Given the description of an element on the screen output the (x, y) to click on. 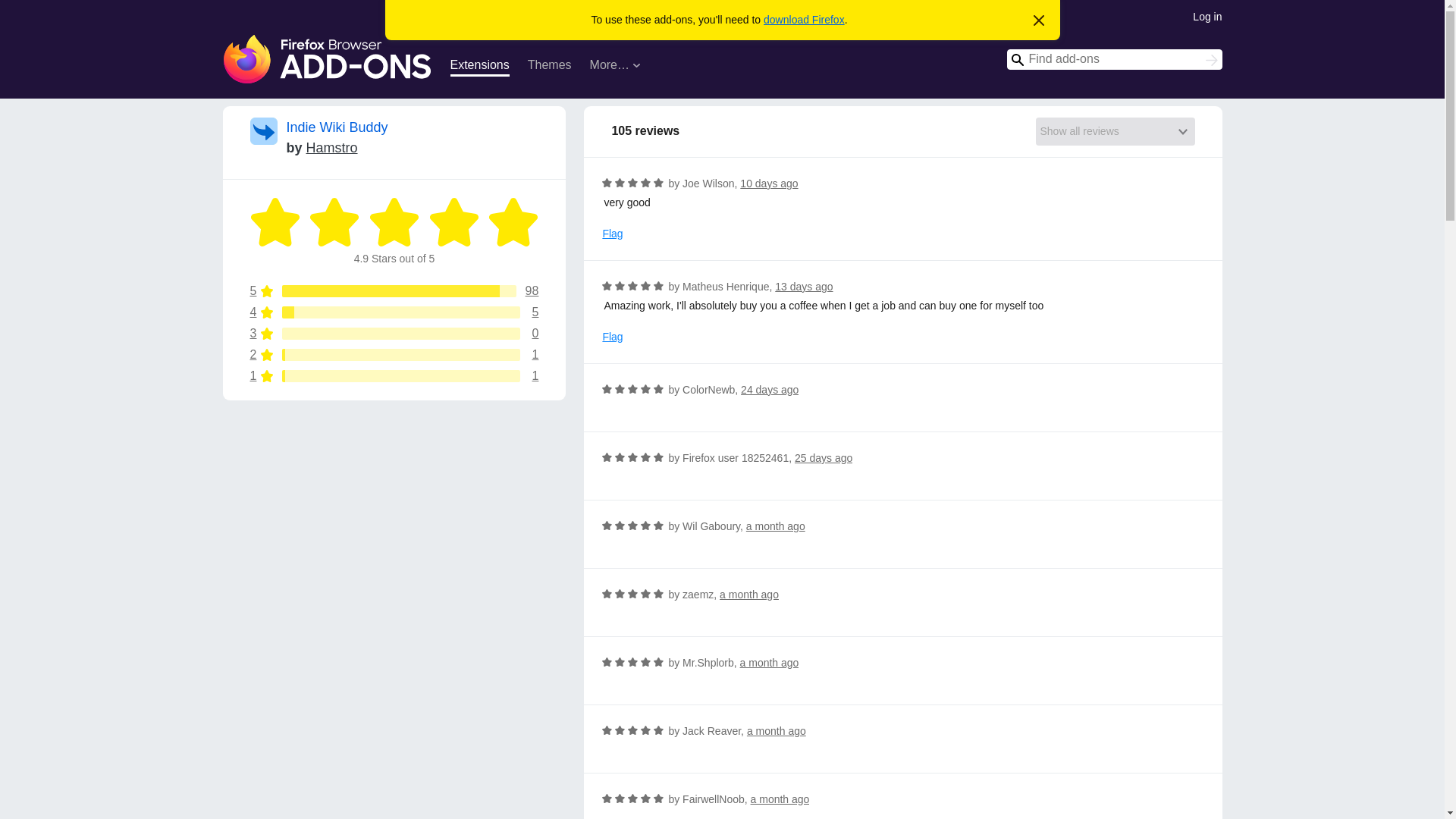
Read all 5 four-star reviews (394, 312)
Rated 4.9 out of 5 (453, 222)
a month ago (776, 730)
Read all 98 five-star reviews (394, 291)
Rated 5 out of 5 (645, 182)
Flag (612, 233)
Read the 1 two-star review (394, 354)
Rated 4.9 out of 5 (512, 222)
Log in (394, 376)
Extensions (1206, 14)
a month ago (479, 66)
download Firefox (775, 526)
Rated 5 out of 5 (803, 19)
Rated 4.9 out of 5 (619, 182)
